Given the description of an element on the screen output the (x, y) to click on. 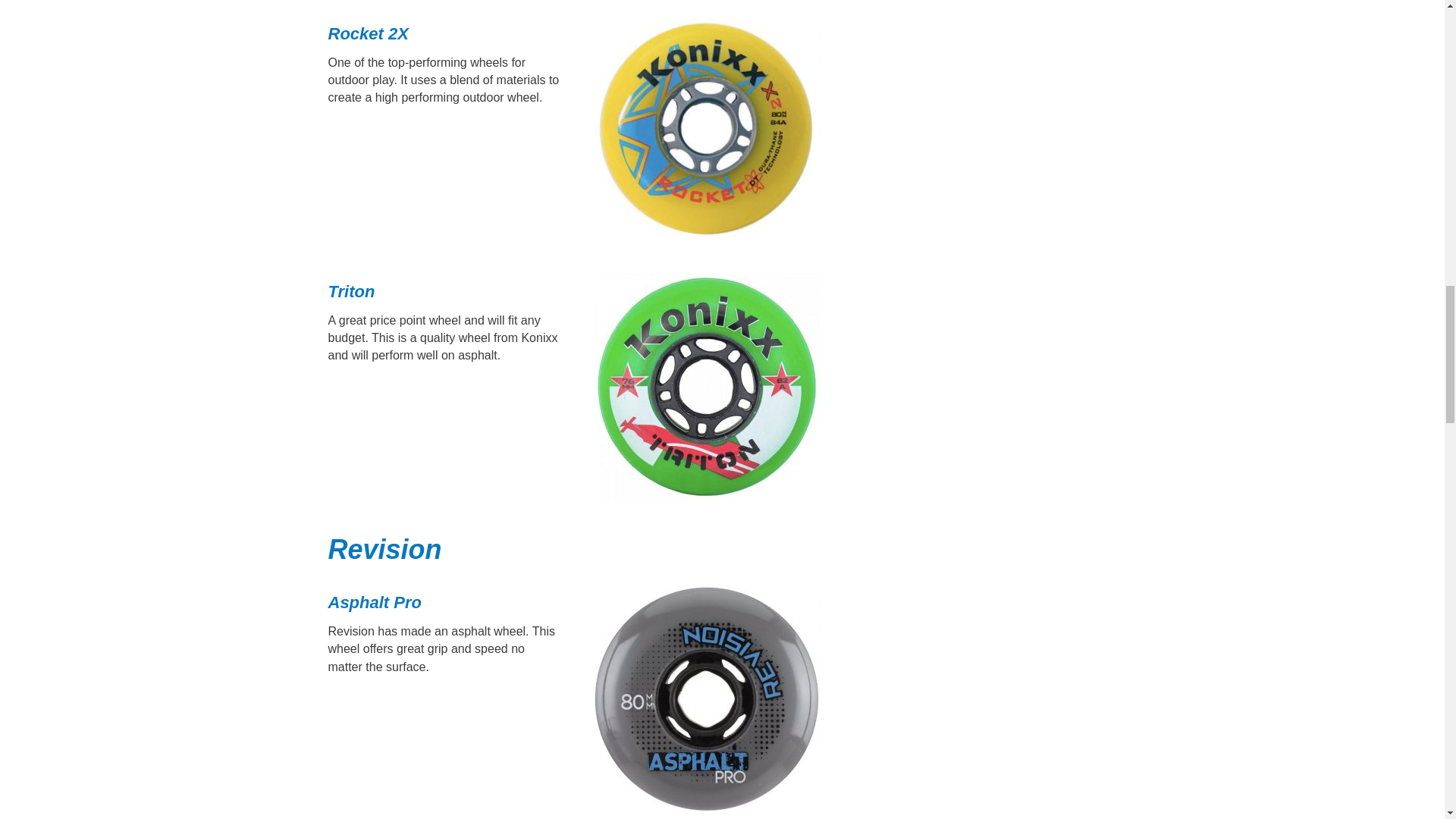
konixx-rocket-2x (706, 128)
konixx-triton (706, 386)
revision-asphalt-pro (706, 697)
